Given the description of an element on the screen output the (x, y) to click on. 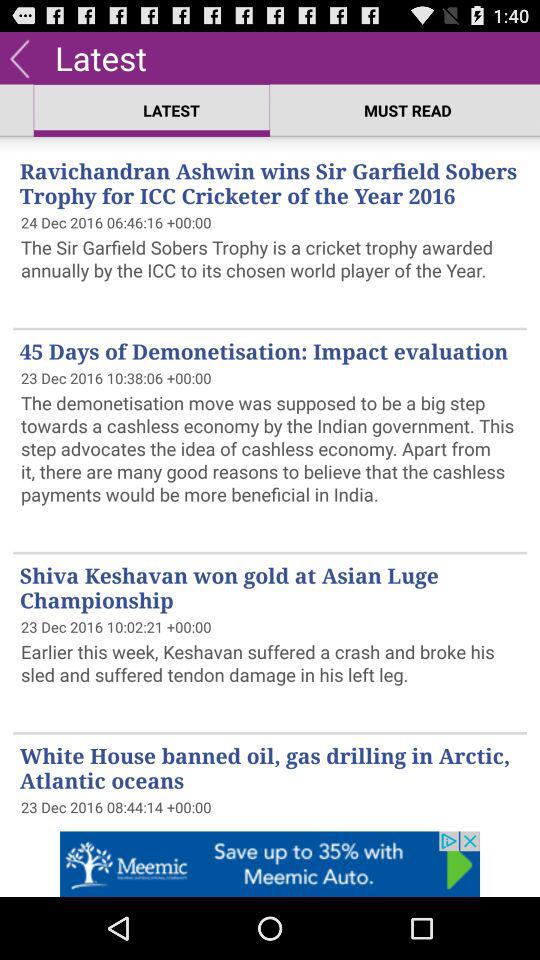
go back (19, 57)
